Given the description of an element on the screen output the (x, y) to click on. 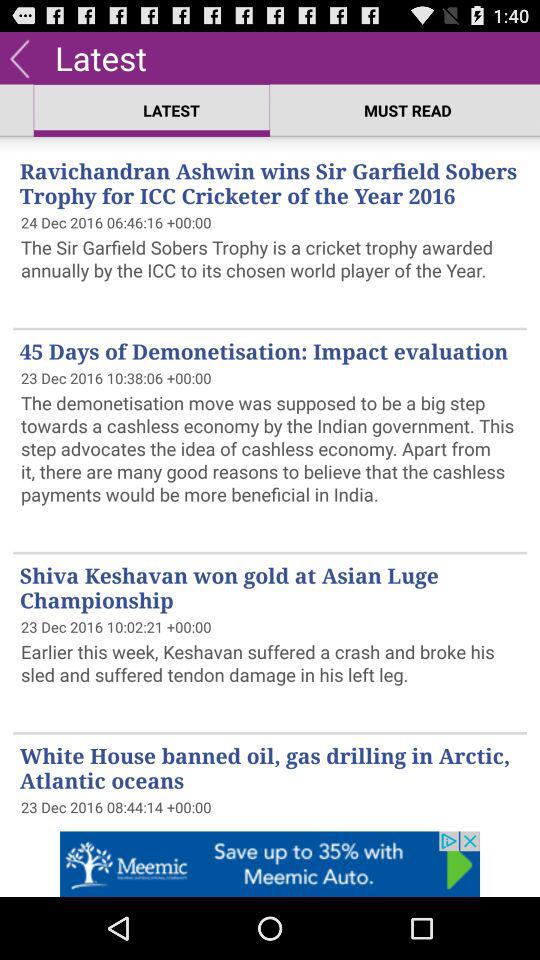
go back (19, 57)
